Given the description of an element on the screen output the (x, y) to click on. 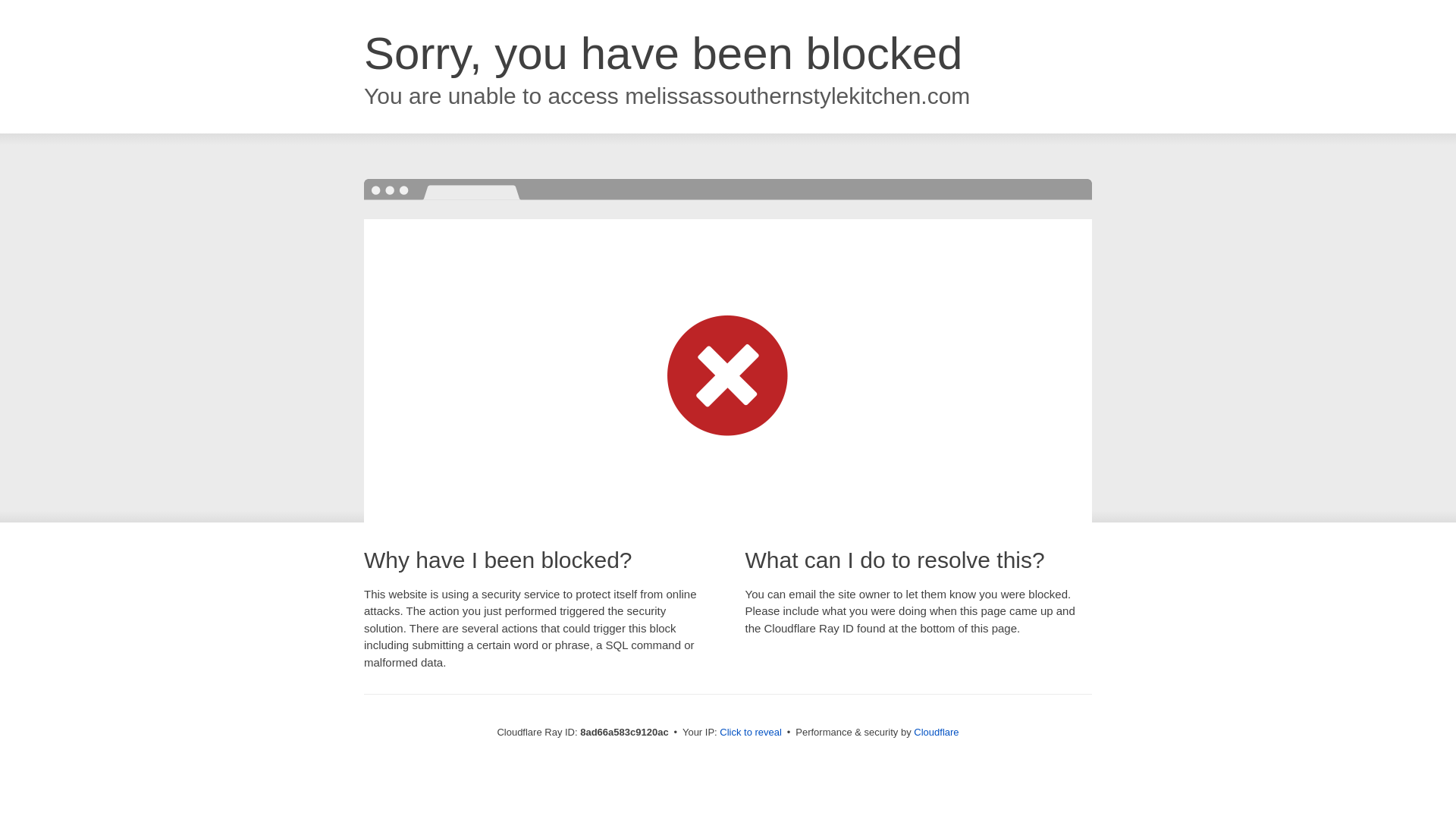
Cloudflare (936, 731)
Click to reveal (750, 732)
